Given the description of an element on the screen output the (x, y) to click on. 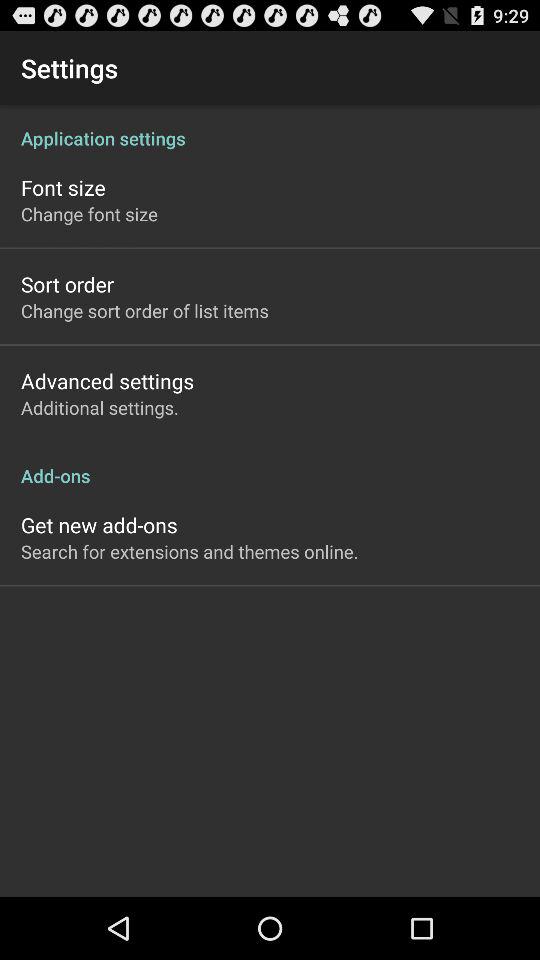
turn on the get new add app (99, 524)
